Given the description of an element on the screen output the (x, y) to click on. 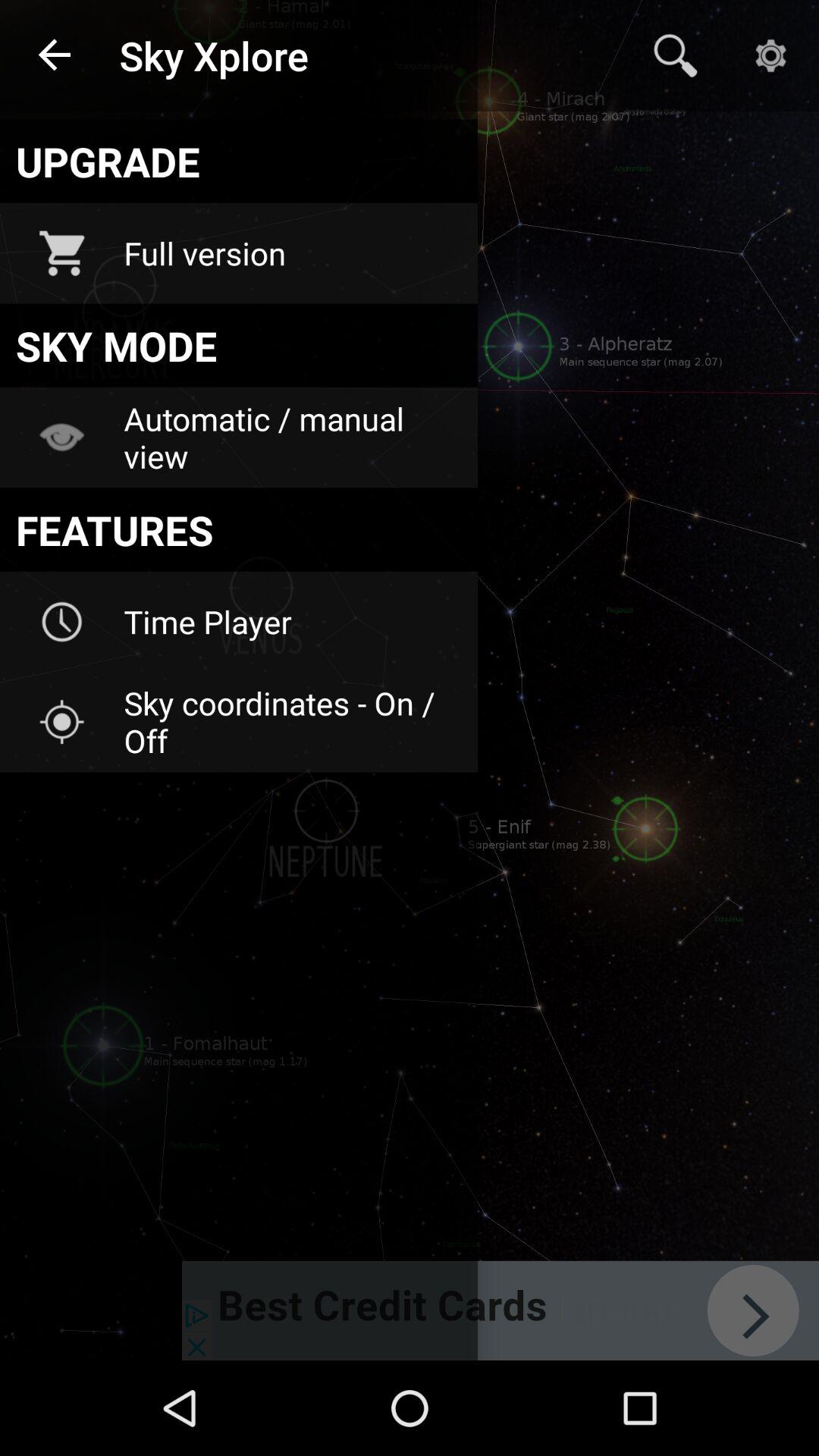
select the sky mode item (238, 345)
